Given the description of an element on the screen output the (x, y) to click on. 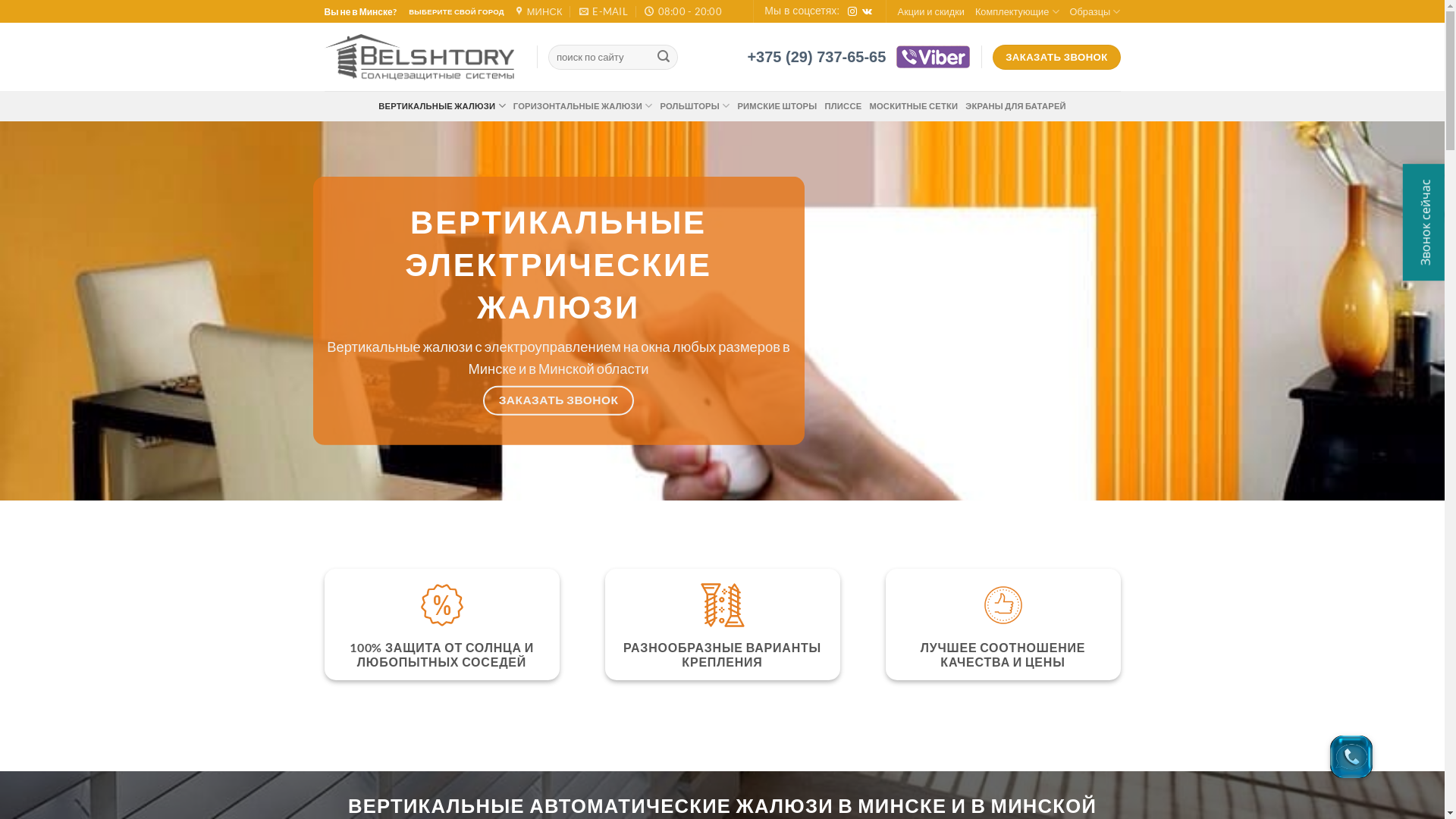
+375 (29) 737-65-65 Element type: text (815, 56)
E-MAIL Element type: text (603, 11)
08:00 - 20:00 Element type: text (682, 11)
